Given the description of an element on the screen output the (x, y) to click on. 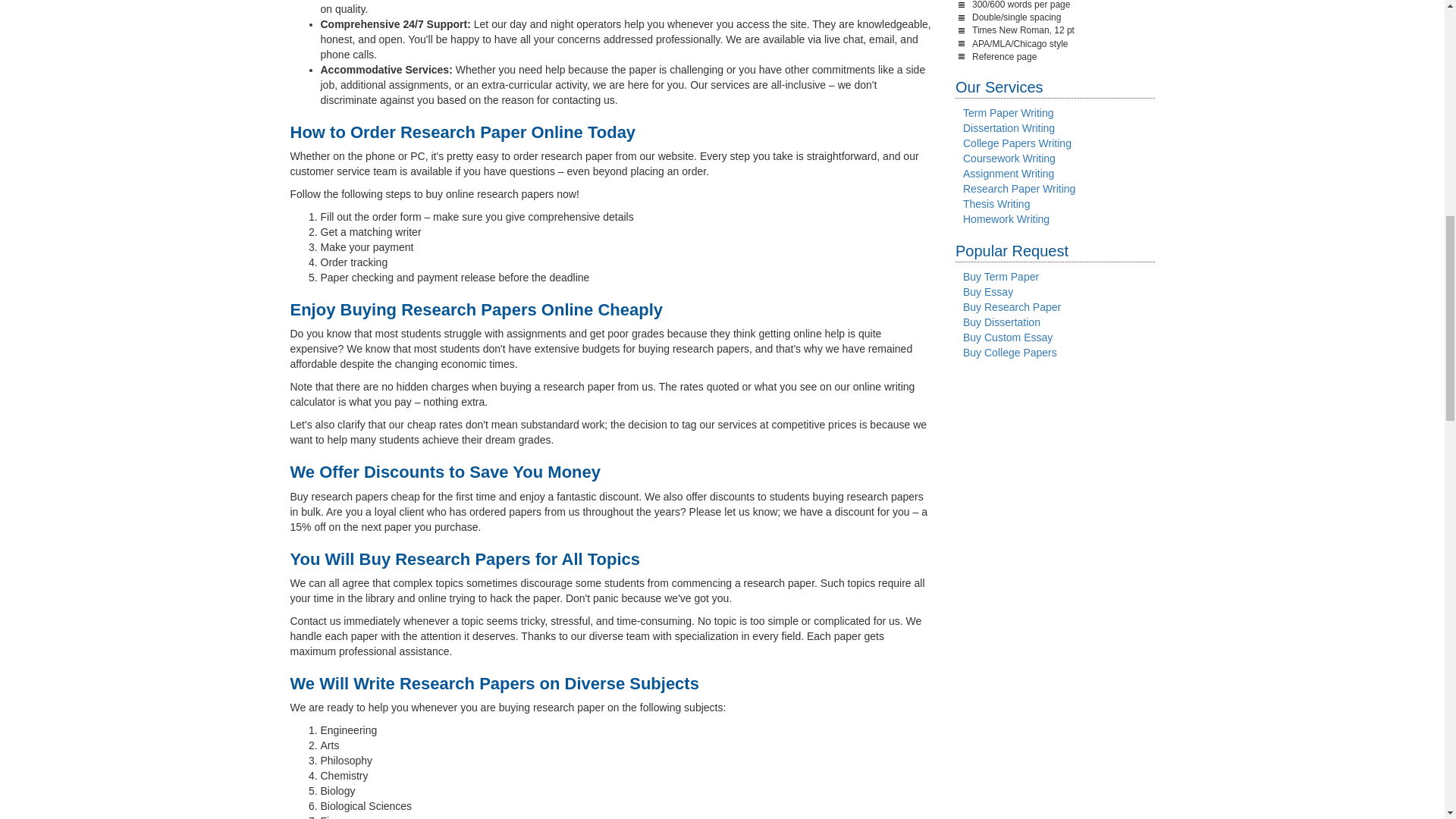
College Papers Writing (1016, 143)
Buy Custom Essay (1007, 337)
Buy Dissertation (1001, 322)
Research Paper Writing (1018, 188)
Buy College Papers (1009, 352)
Dissertation Writing (1008, 128)
Homework Writing (1005, 218)
Coursework Writing (1008, 158)
Buy Essay (987, 291)
Buy Term Paper (1000, 276)
